Given the description of an element on the screen output the (x, y) to click on. 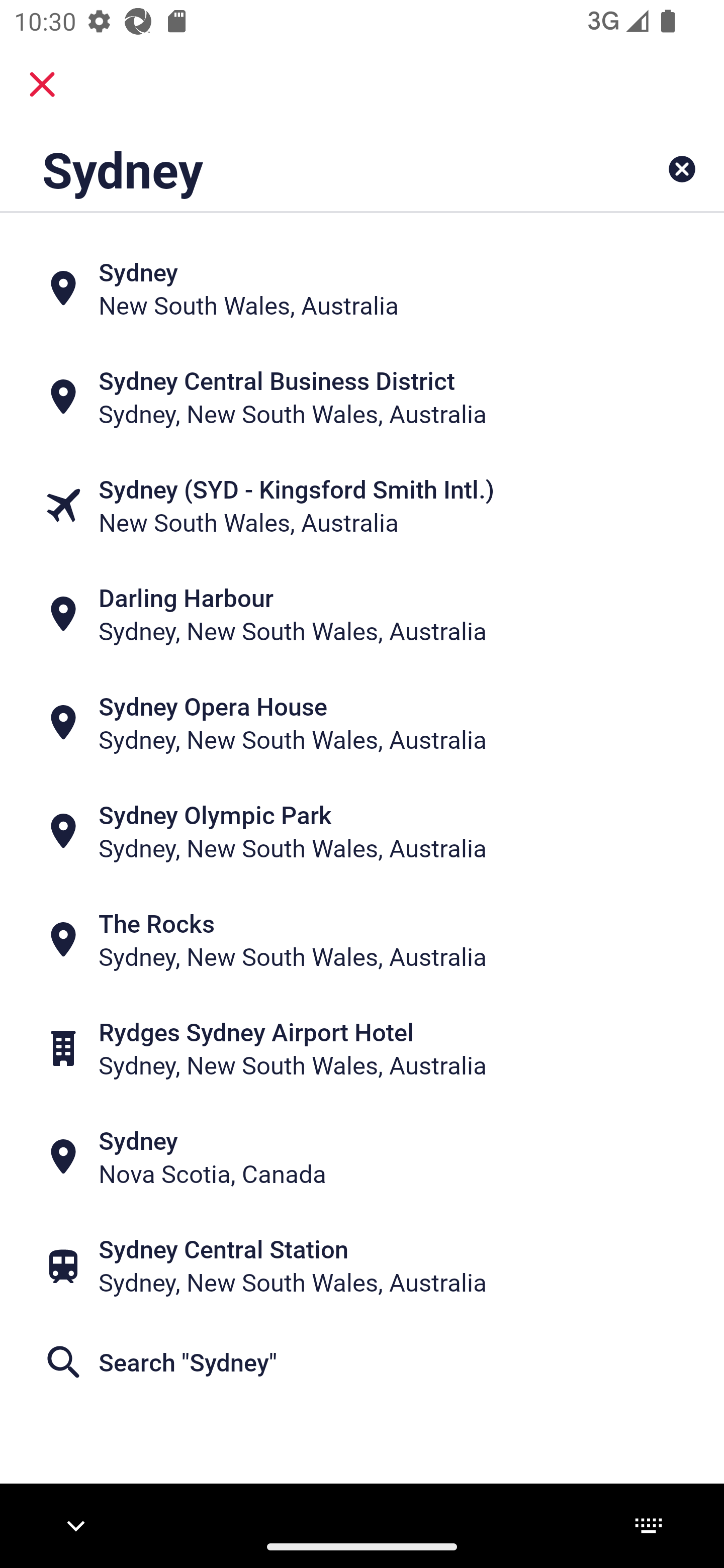
close. (42, 84)
Clear (681, 169)
Sydney (298, 169)
Sydney New South Wales, Australia (362, 288)
Darling Harbour Sydney, New South Wales, Australia (362, 613)
The Rocks Sydney, New South Wales, Australia (362, 939)
Sydney Nova Scotia, Canada (362, 1156)
Search "Sydney" (361, 1362)
